Given the description of an element on the screen output the (x, y) to click on. 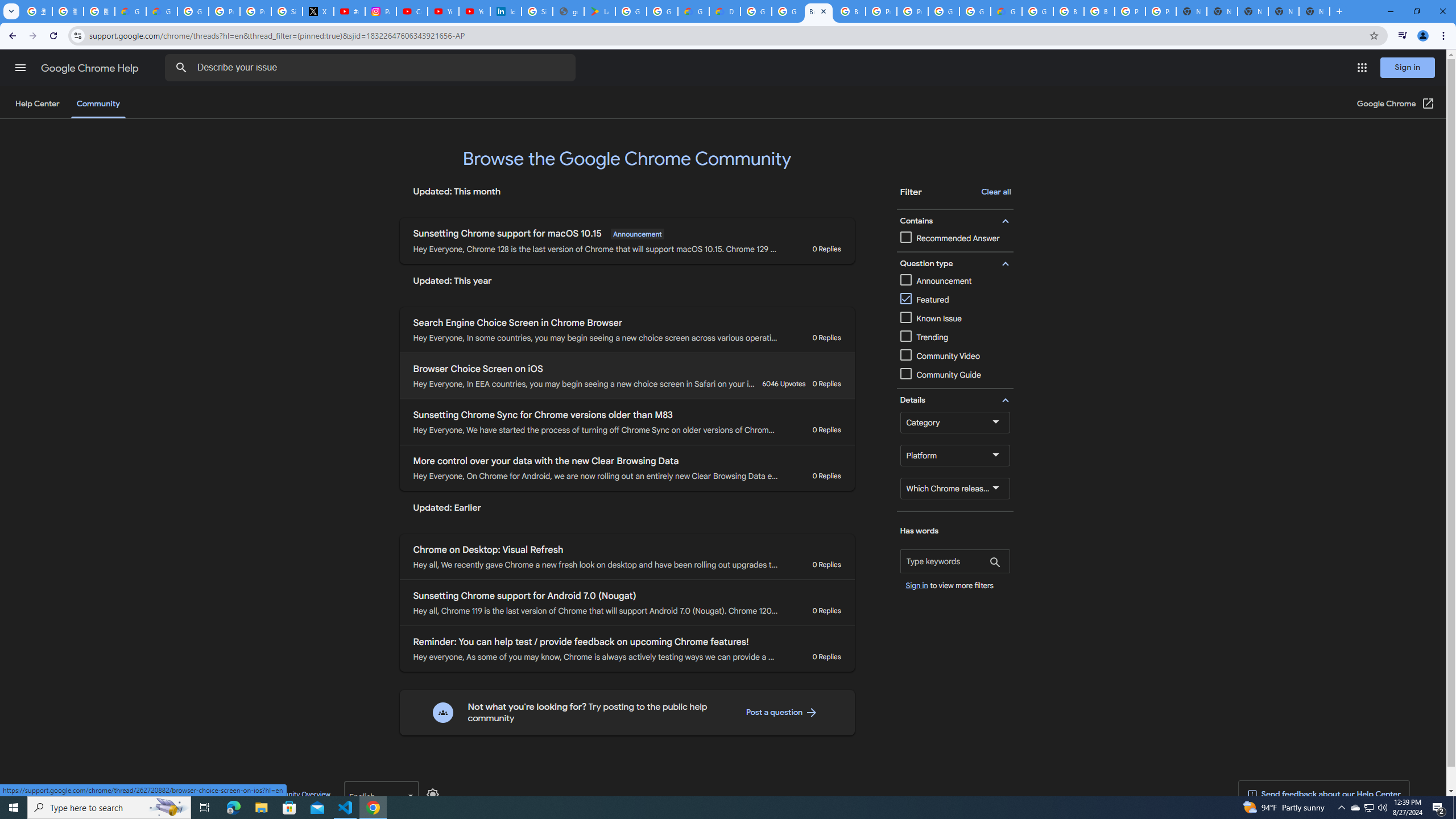
Last Shelter: Survival - Apps on Google Play (599, 11)
Trending (924, 337)
Privacy Help Center - Policies Help (223, 11)
 Details filter group  (953, 400)
Post a question  (781, 712)
Google Cloud Platform (974, 11)
Identity verification via Persona | LinkedIn Help (505, 11)
